Given the description of an element on the screen output the (x, y) to click on. 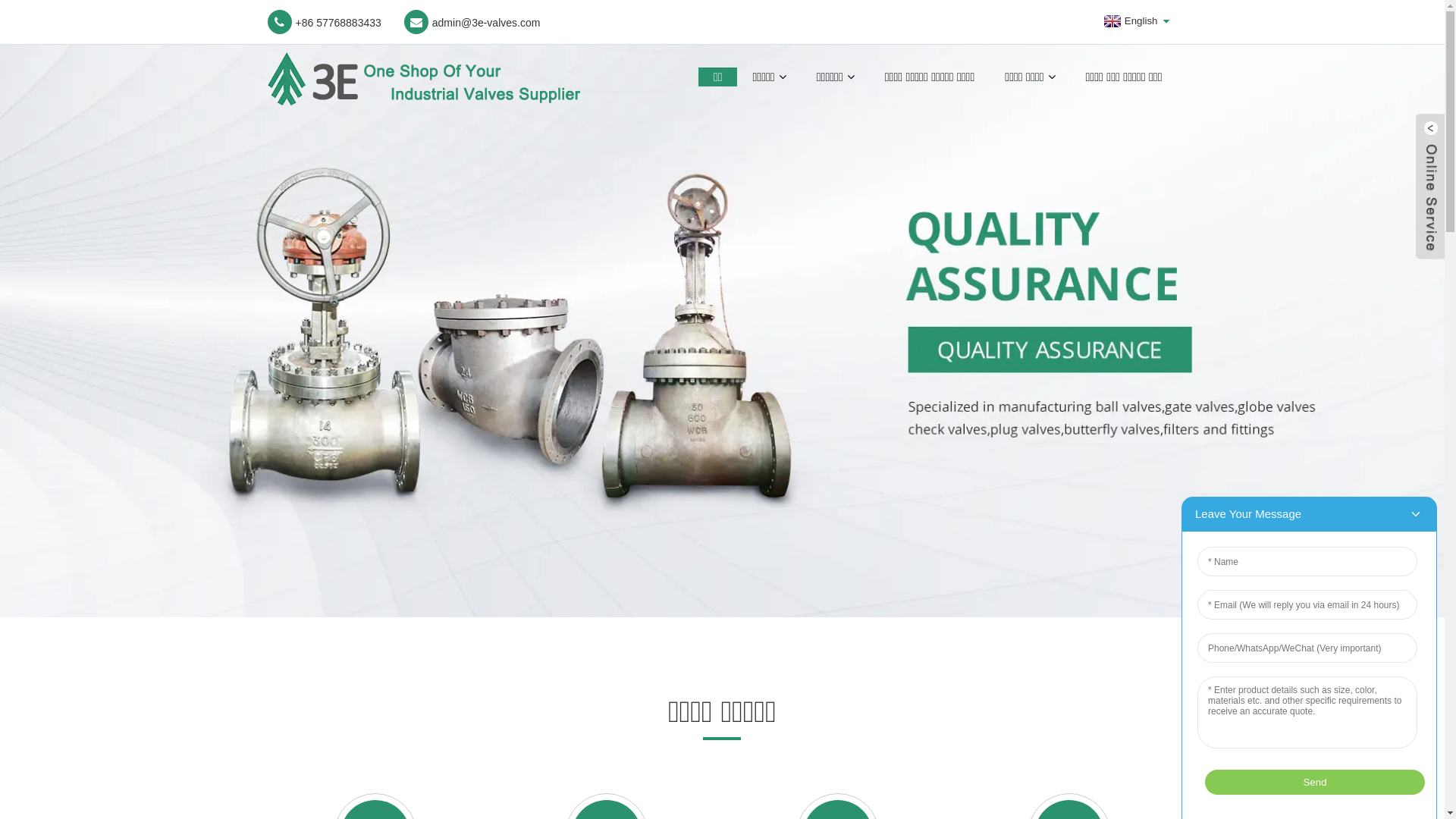
English Element type: text (1128, 21)
admin@3e-valves.com Element type: text (472, 21)
